Given the description of an element on the screen output the (x, y) to click on. 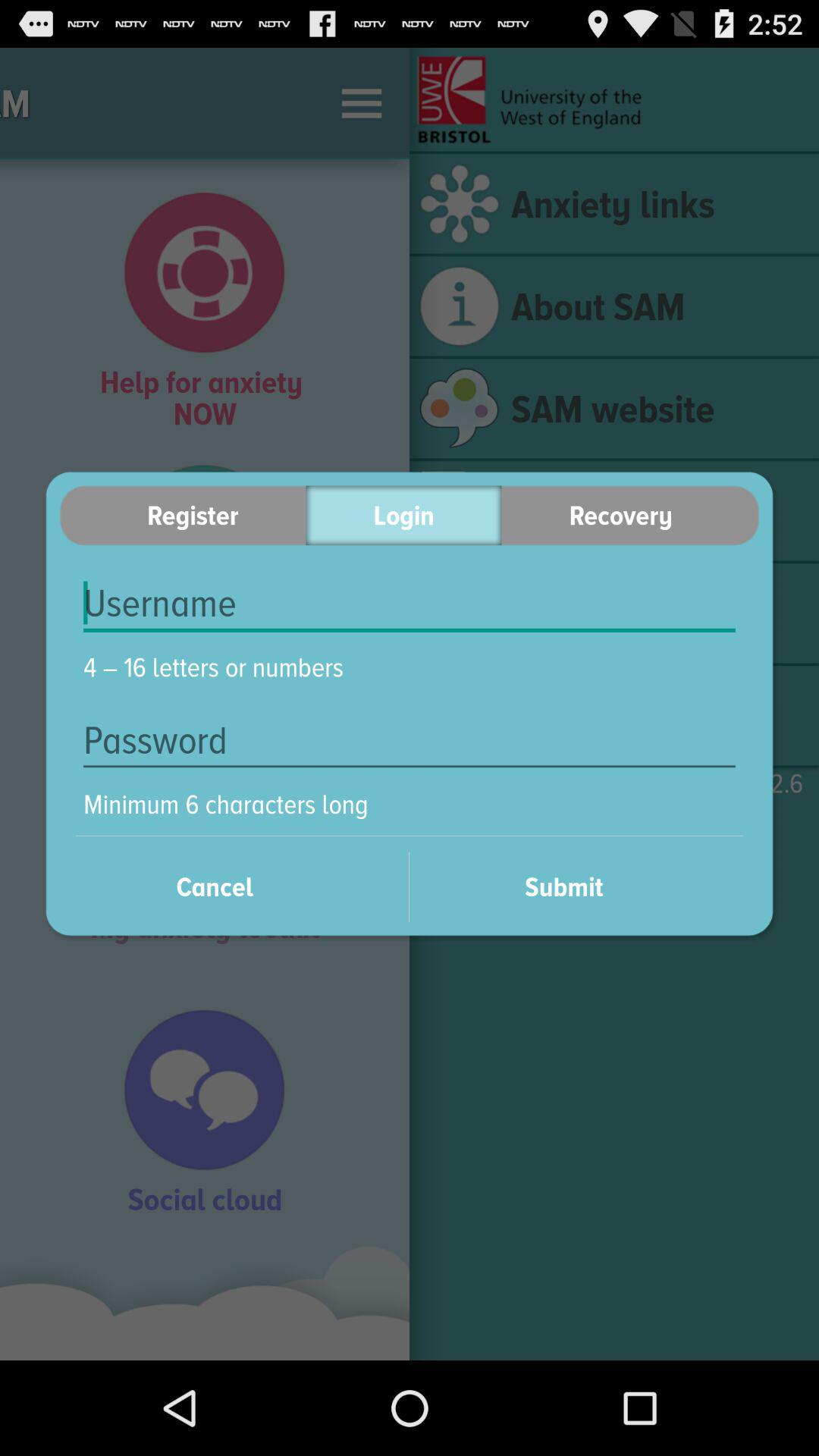
select username input (409, 603)
